Given the description of an element on the screen output the (x, y) to click on. 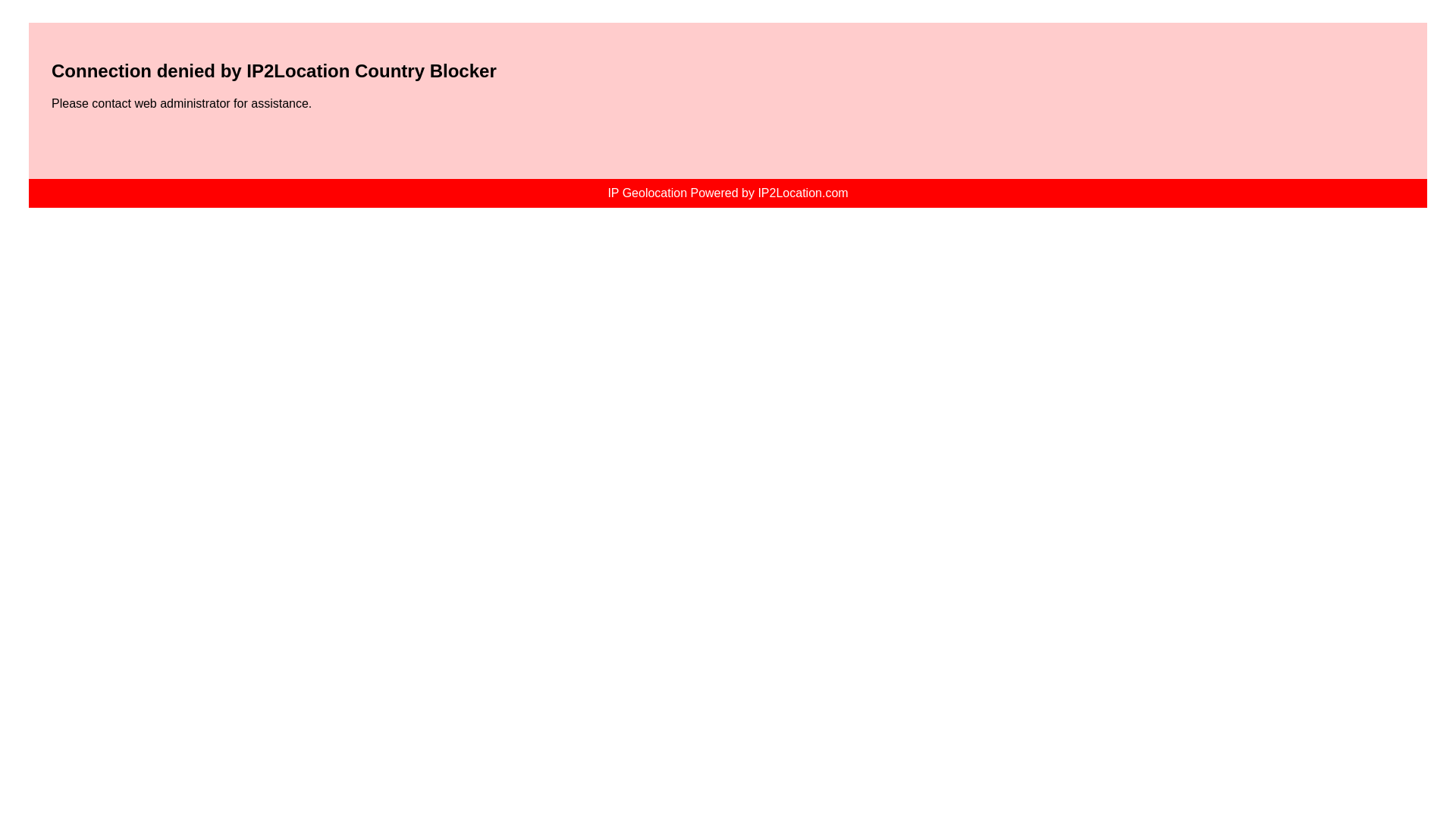
IP Geolocation Powered by IP2Location.com Element type: text (727, 192)
